Given the description of an element on the screen output the (x, y) to click on. 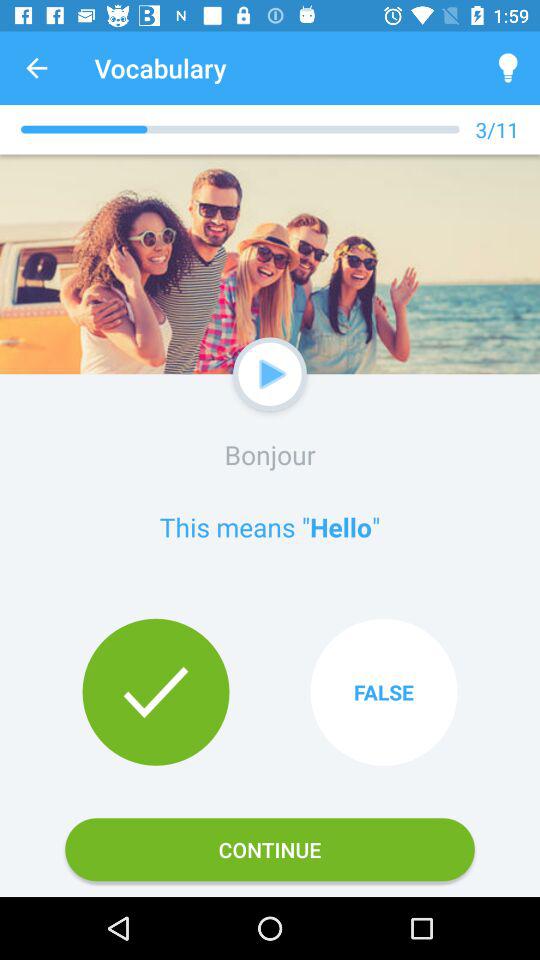
click on the button at the top right of the page (508, 68)
click play icon (272, 373)
click on the icon beside the false (156, 692)
